Given the description of an element on the screen output the (x, y) to click on. 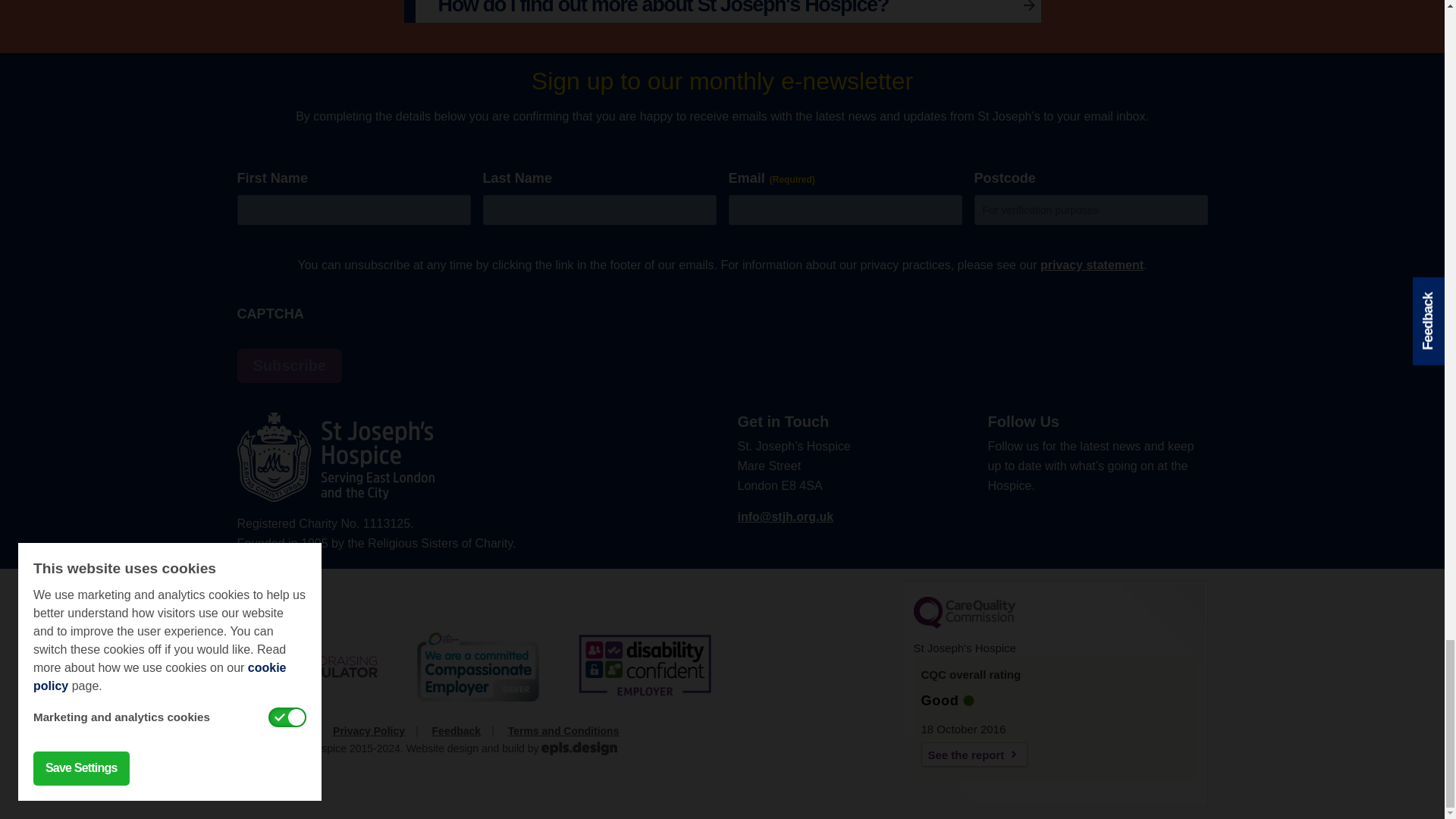
CQC Logo (963, 624)
Subscribe (288, 365)
